Given the description of an element on the screen output the (x, y) to click on. 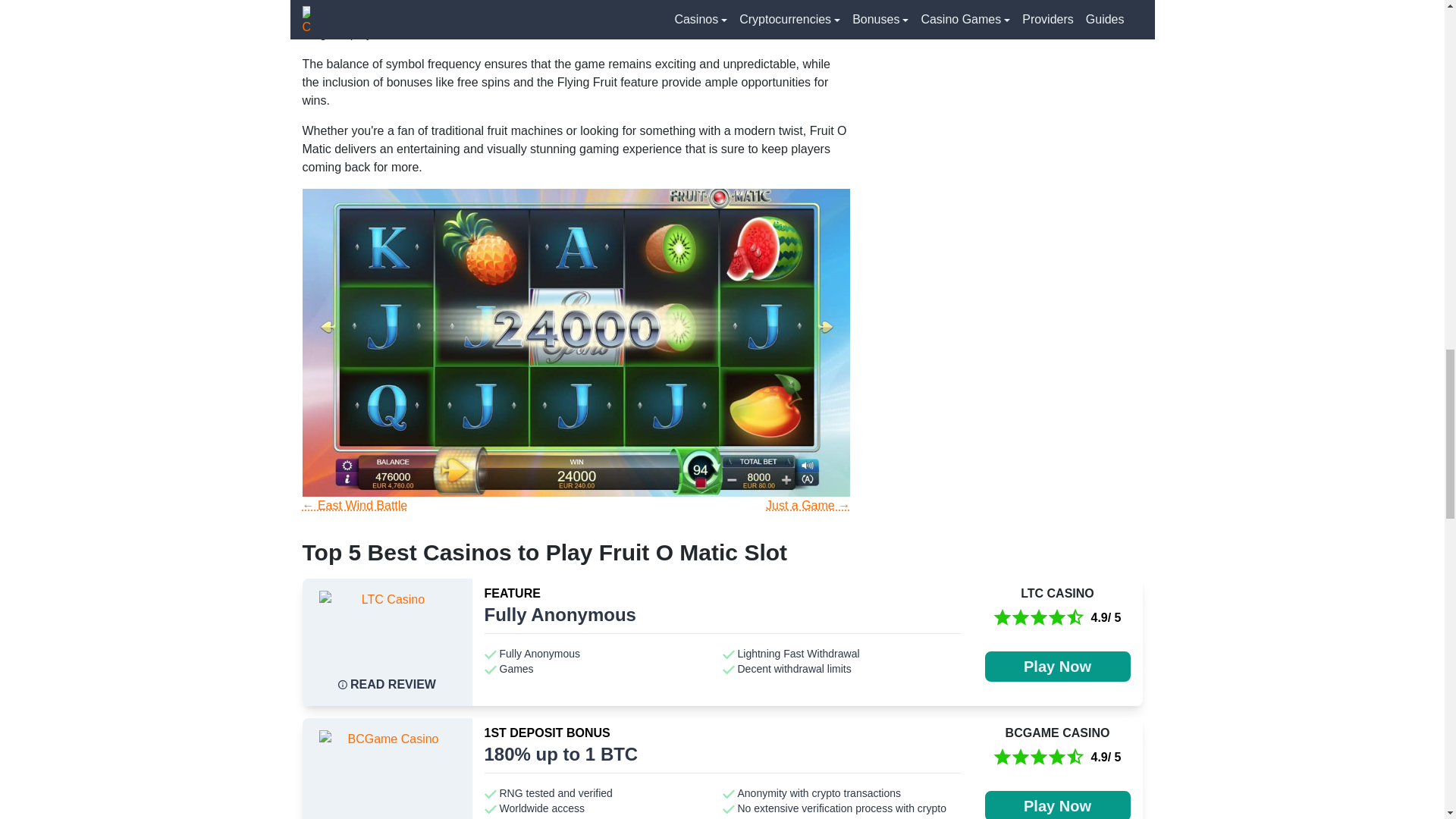
full star (1001, 757)
full star (1020, 618)
full star (1020, 757)
full star (1038, 618)
full star (1001, 618)
half empty star (1074, 618)
half empty star (1074, 757)
full star (1056, 618)
full star (1038, 757)
full star (1056, 757)
